Given the description of an element on the screen output the (x, y) to click on. 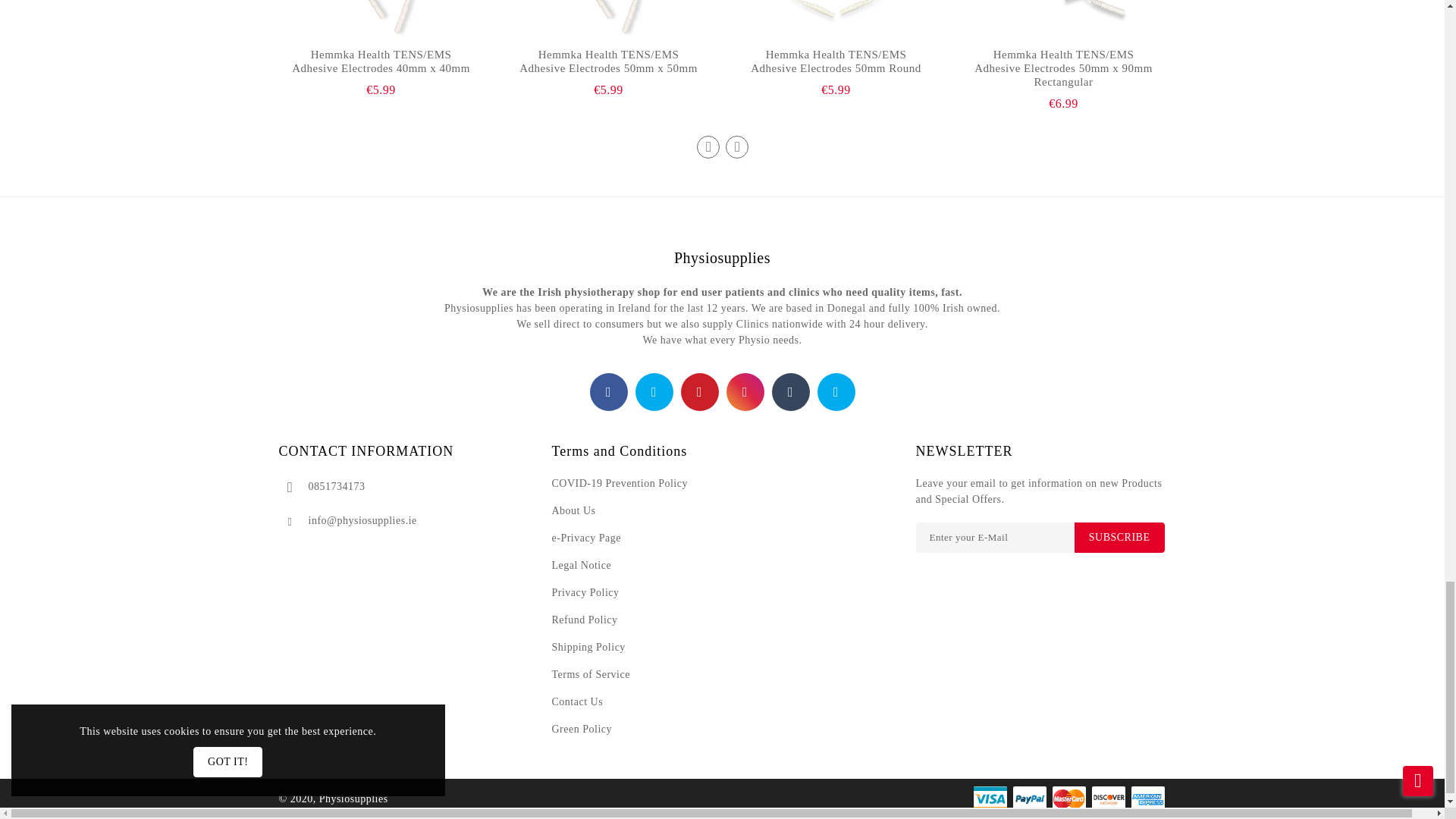
Physiosupplies on Facebook (608, 392)
Physiosupplies on Vimeo (835, 392)
Physiosupplies on Instagram (745, 392)
Physiosupplies on Pinterest (699, 392)
Physiosupplies on Tumblr (790, 392)
Physiosupplies on Twitter (653, 392)
